Given the description of an element on the screen output the (x, y) to click on. 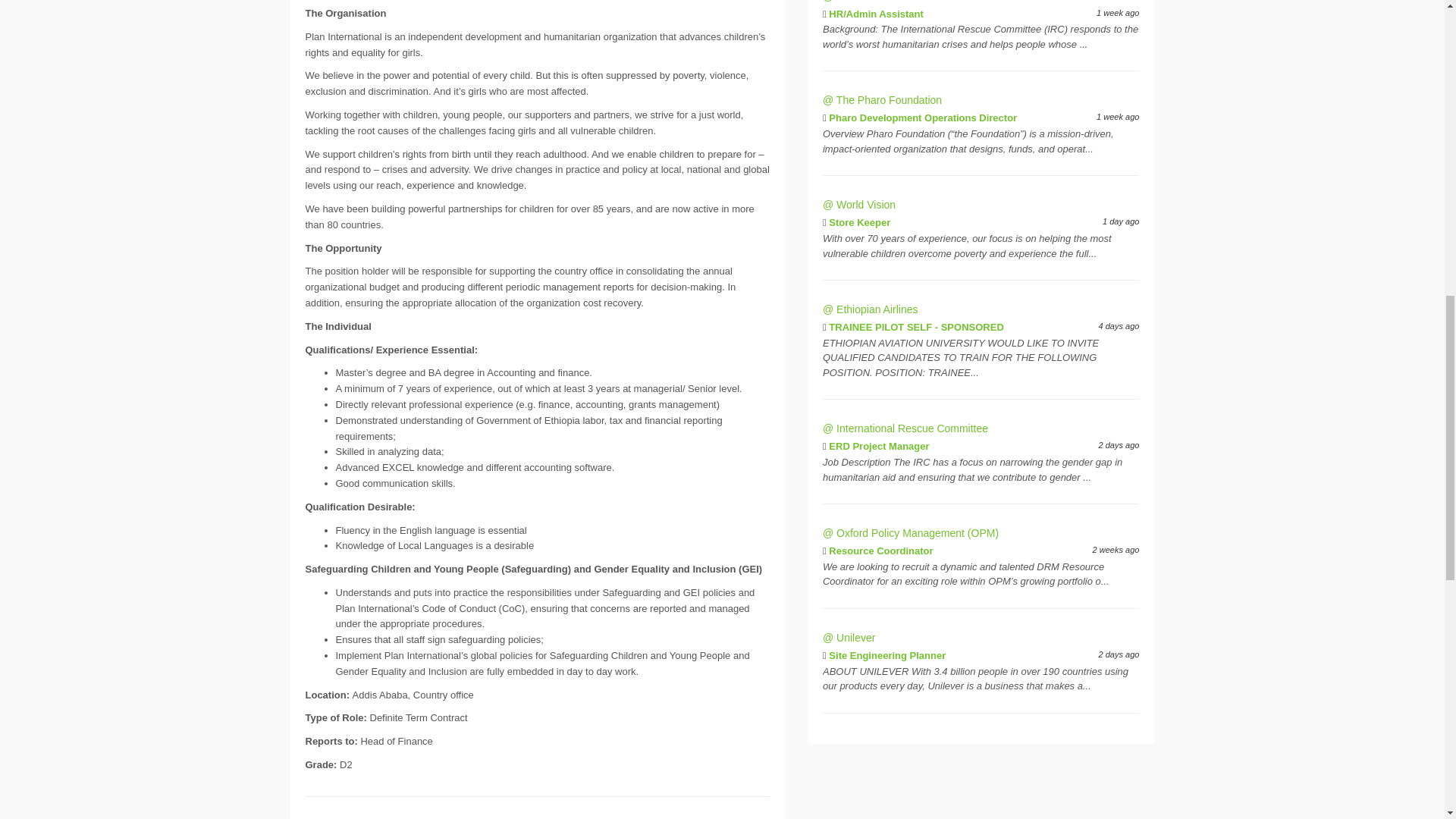
Advertisement (981, 785)
Store Keeper (858, 222)
ERD Project Manager (878, 446)
Resource Coordinator (880, 550)
TRAINEE PILOT SELF - SPONSORED (915, 326)
Pharo Development Operations Director (922, 117)
Site Engineering Planner (886, 655)
